Given the description of an element on the screen output the (x, y) to click on. 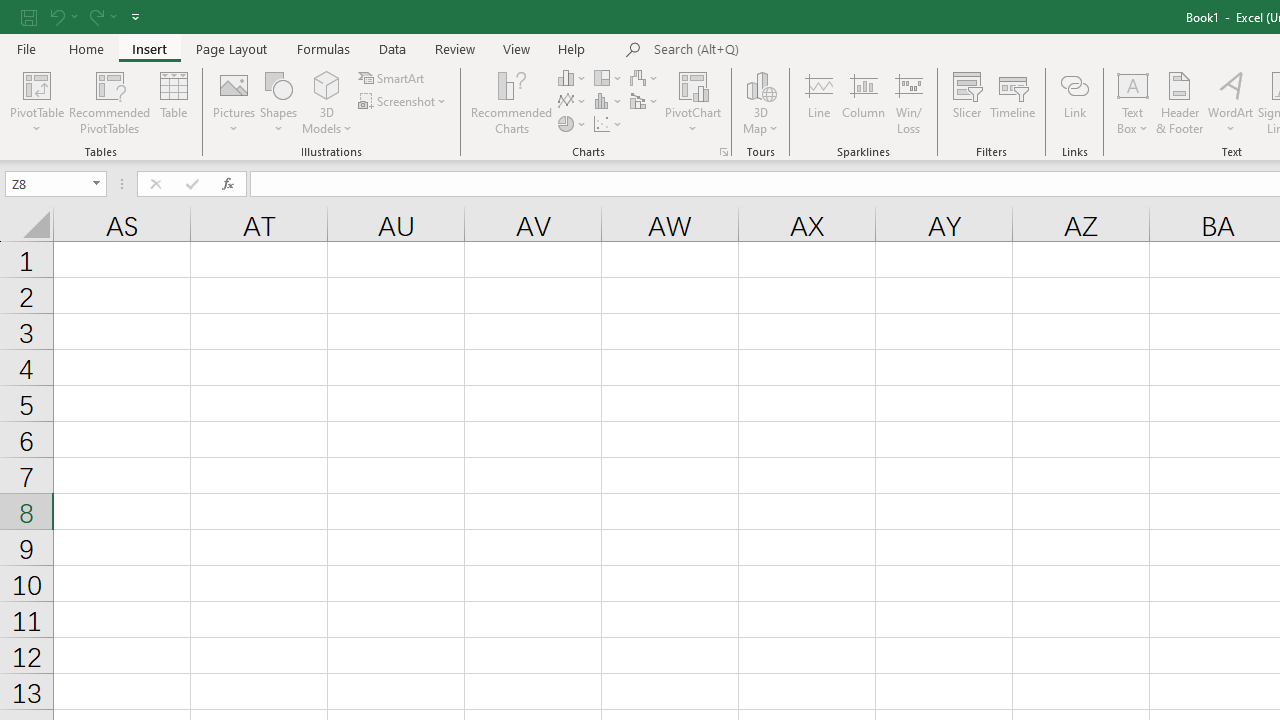
Recommended PivotTables (109, 102)
PivotTable (36, 84)
Line (818, 102)
SmartArt... (392, 78)
Timeline (1013, 102)
PivotChart (693, 102)
Column (863, 102)
3D Models (326, 84)
